Given the description of an element on the screen output the (x, y) to click on. 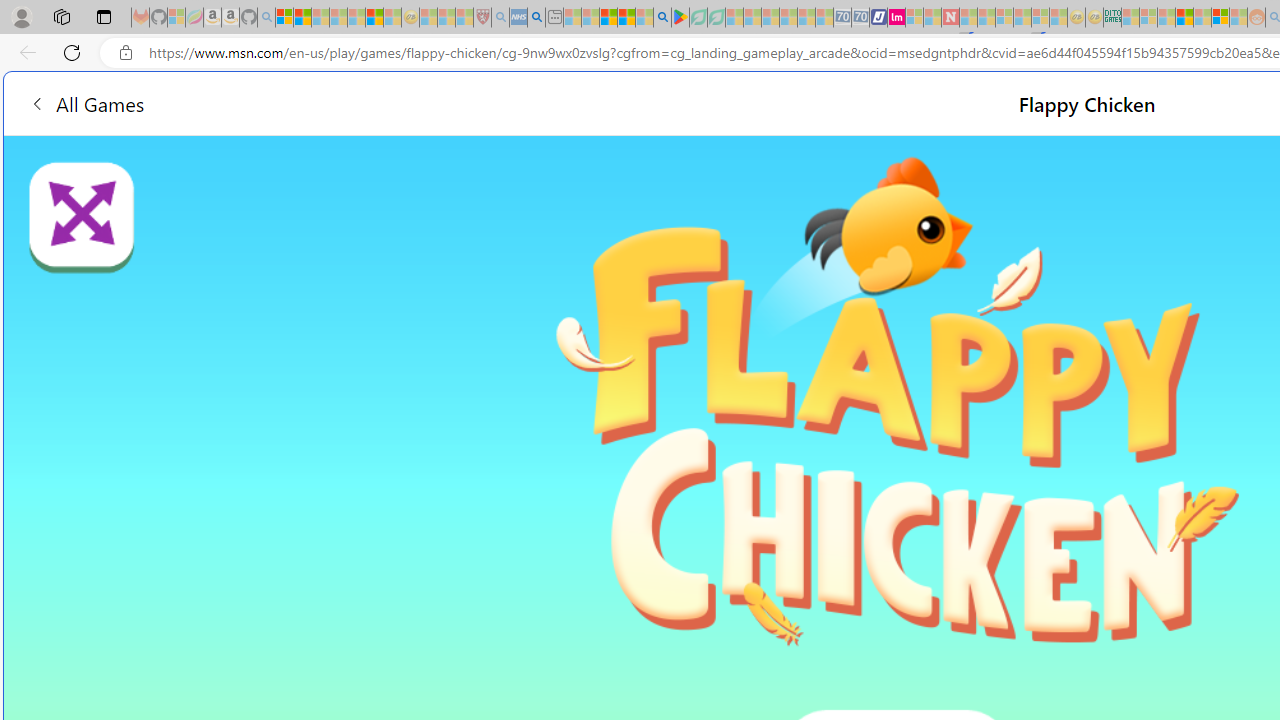
Expert Portfolios (1184, 17)
Local - MSN - Sleeping (464, 17)
Bluey: Let's Play! - Apps on Google Play (680, 17)
Latest Politics News & Archive | Newsweek.com - Sleeping (950, 17)
All Games (380, 102)
